Given the description of an element on the screen output the (x, y) to click on. 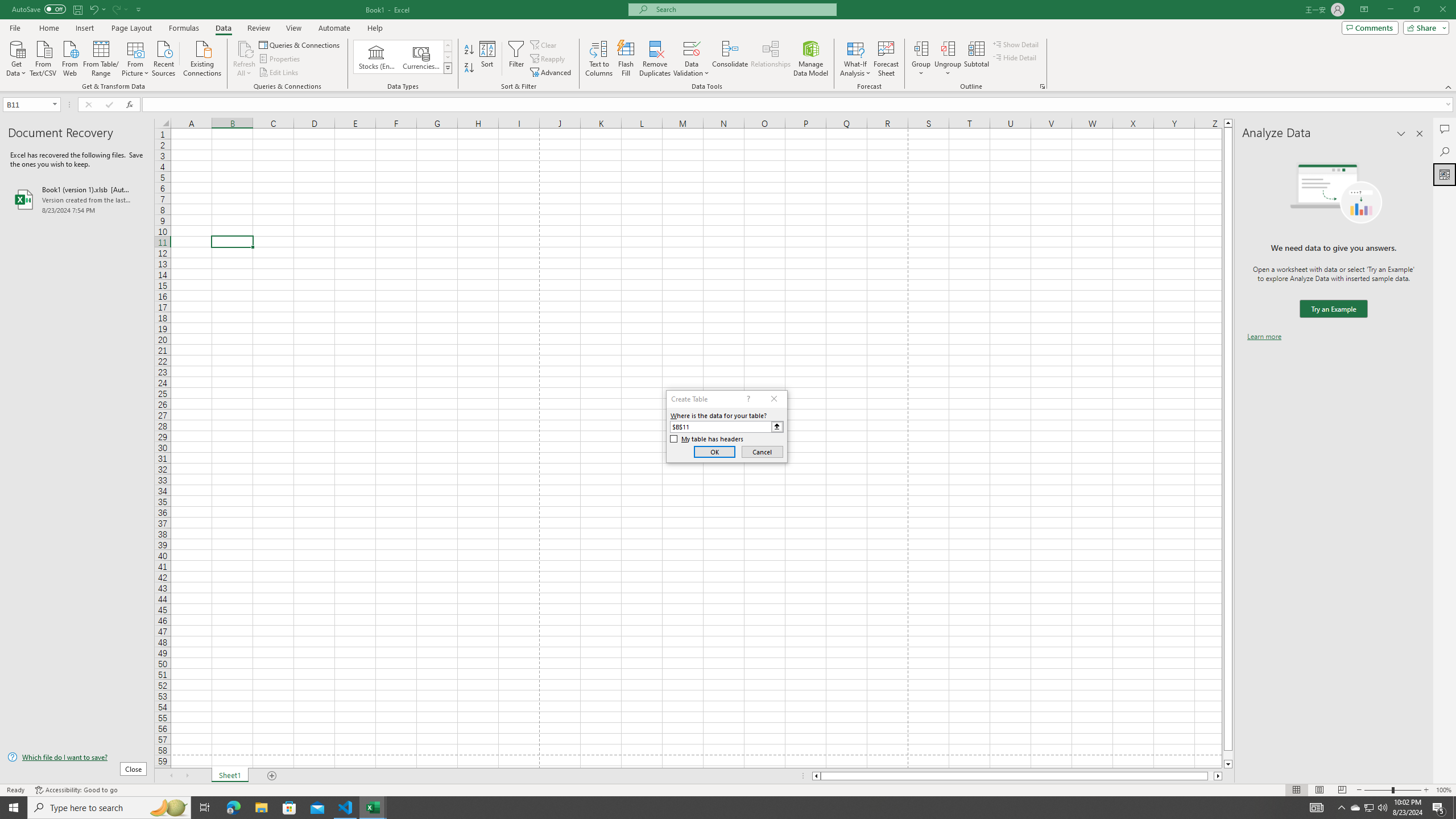
From Picture (135, 57)
Learn more (1264, 336)
